Given the description of an element on the screen output the (x, y) to click on. 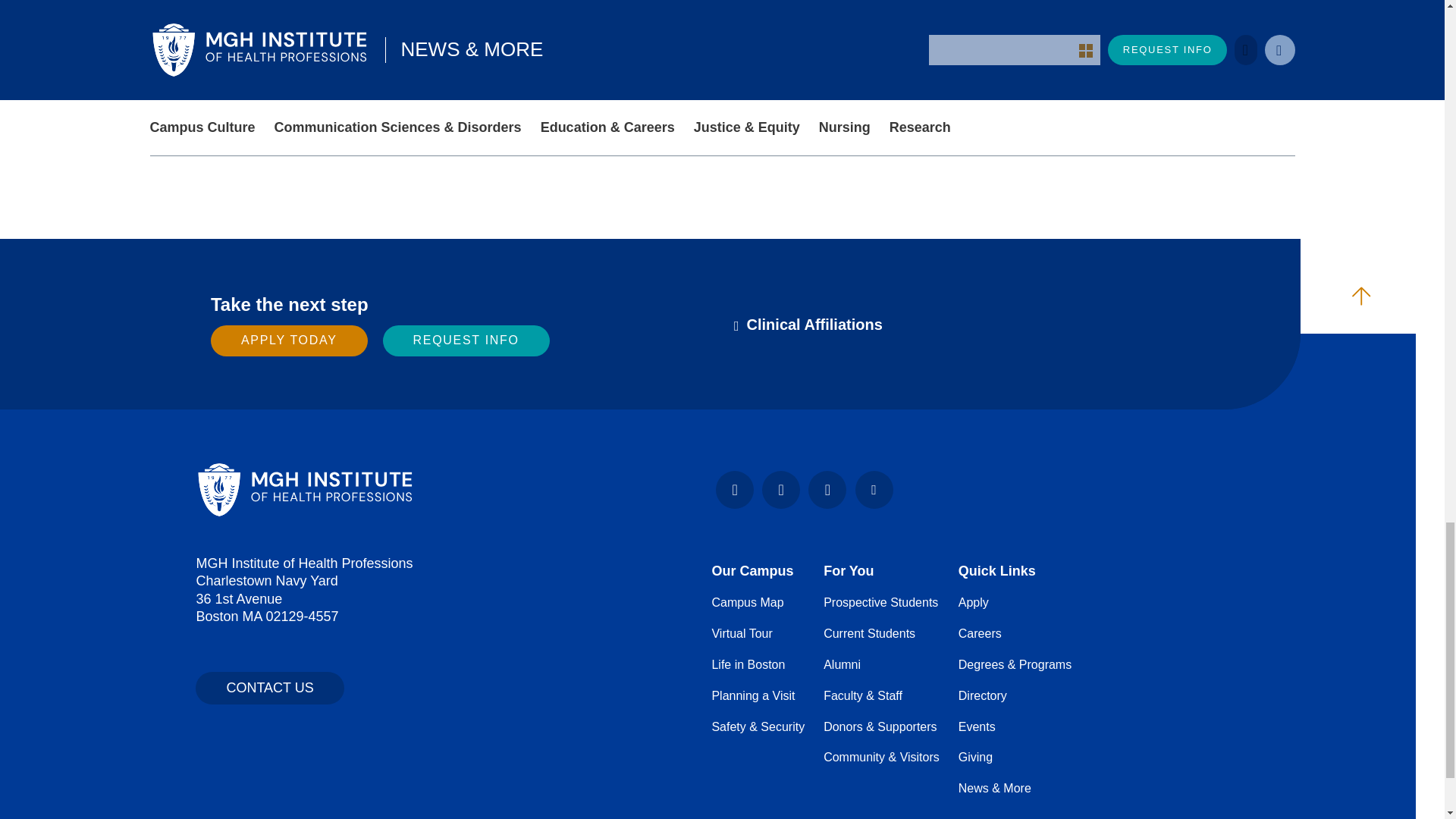
Instagram (780, 489)
Virtual Tour (741, 633)
MGH IHP (304, 488)
LinkedIn (826, 489)
let us know (1080, 136)
Donate to Molly Allen. (587, 99)
Campus Map (747, 602)
Twitter (874, 489)
Facebook (735, 489)
CONTACT US (269, 687)
